Given the description of an element on the screen output the (x, y) to click on. 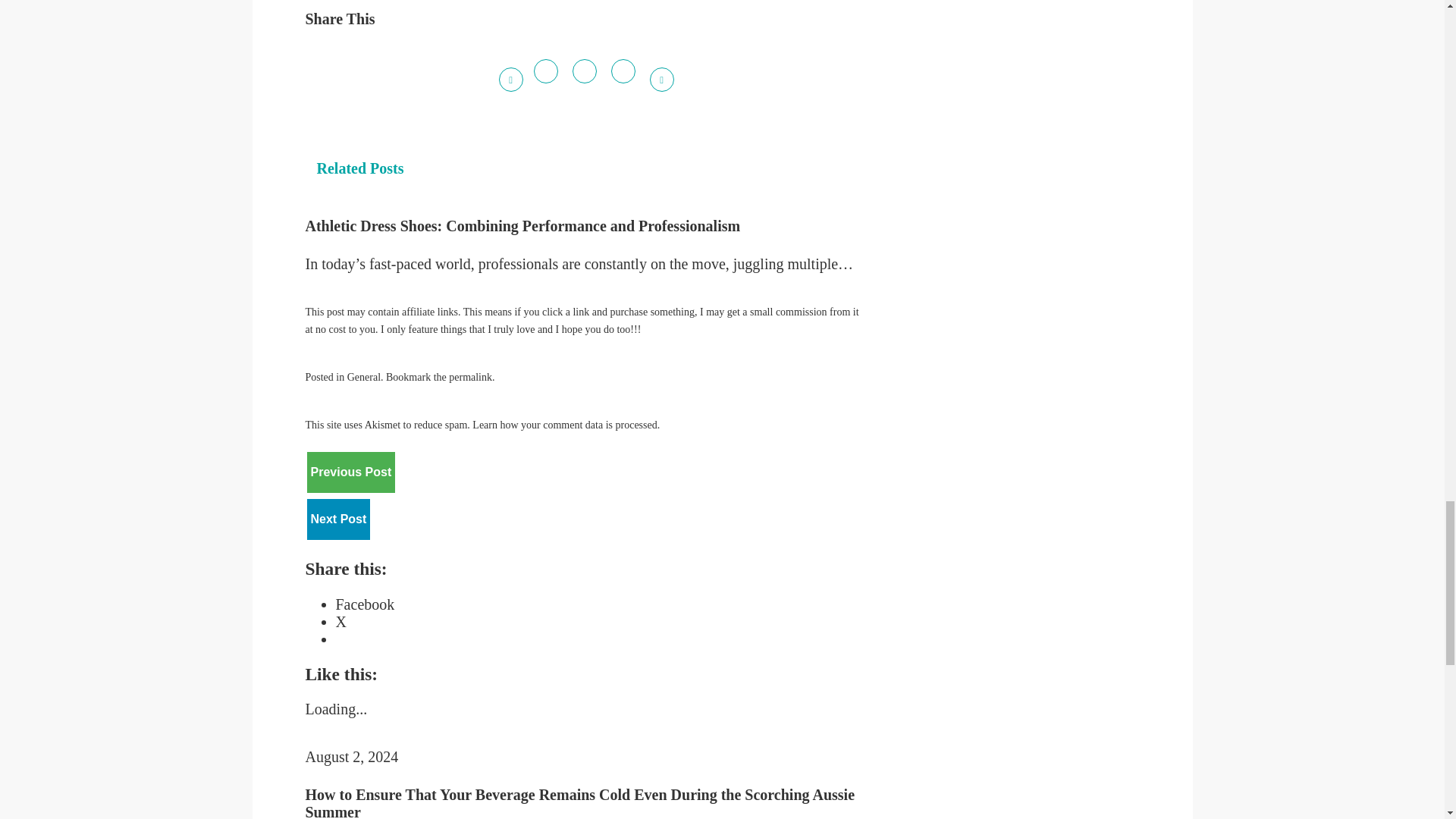
Book Club Monday (337, 518)
Previous Post (350, 472)
Next Post (337, 518)
Click to share on Facebook (364, 604)
Next Post (337, 518)
permalink (470, 377)
Previous Post (349, 472)
2 New Fashion Trends That You Need To Know About NOW! (350, 472)
Facebook (364, 604)
